Given the description of an element on the screen output the (x, y) to click on. 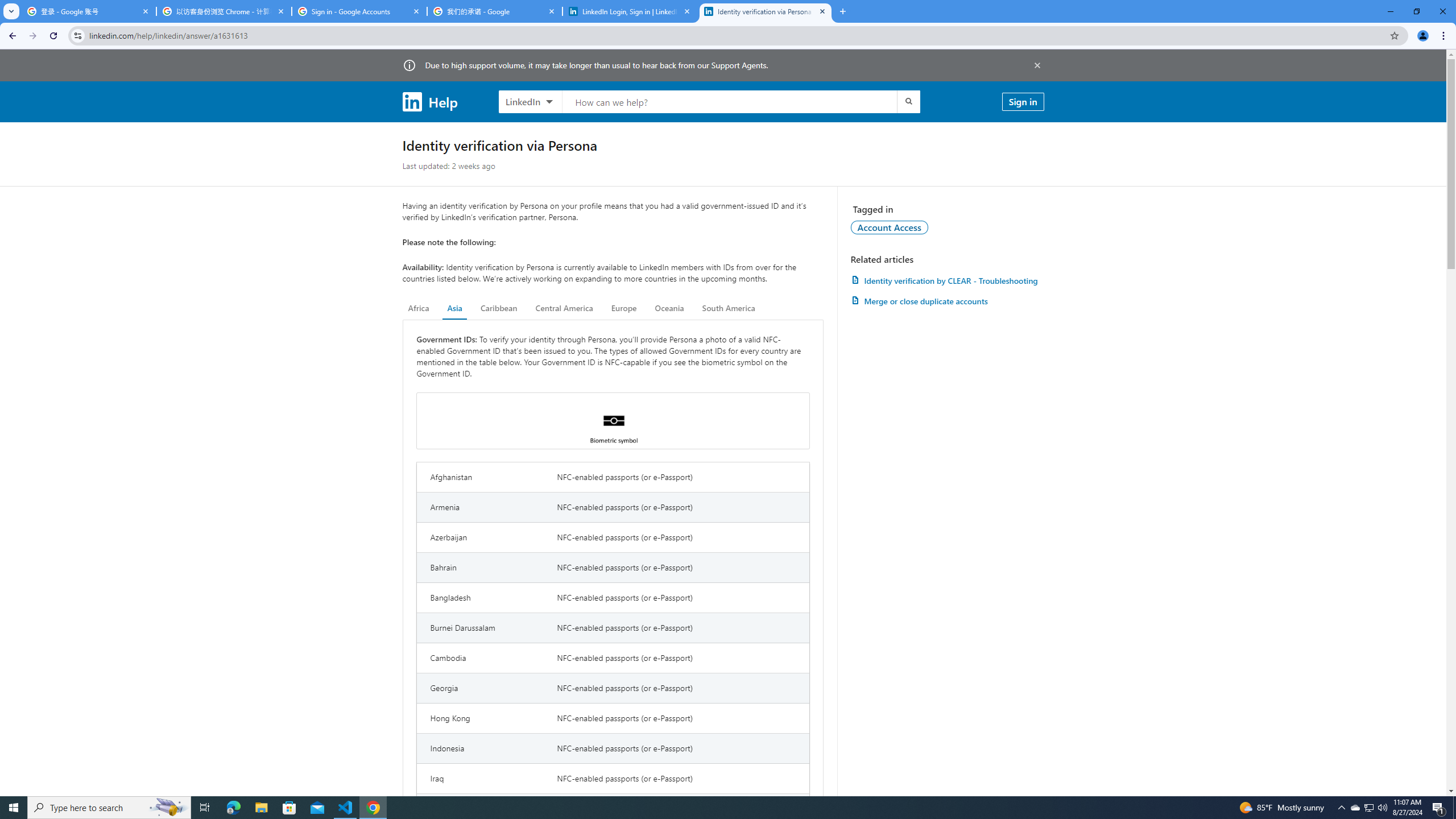
South America (728, 308)
LinkedIn products to search, LinkedIn selected (530, 101)
AutomationID: article-link-a1457505 (946, 280)
Asia (454, 308)
